Given the description of an element on the screen output the (x, y) to click on. 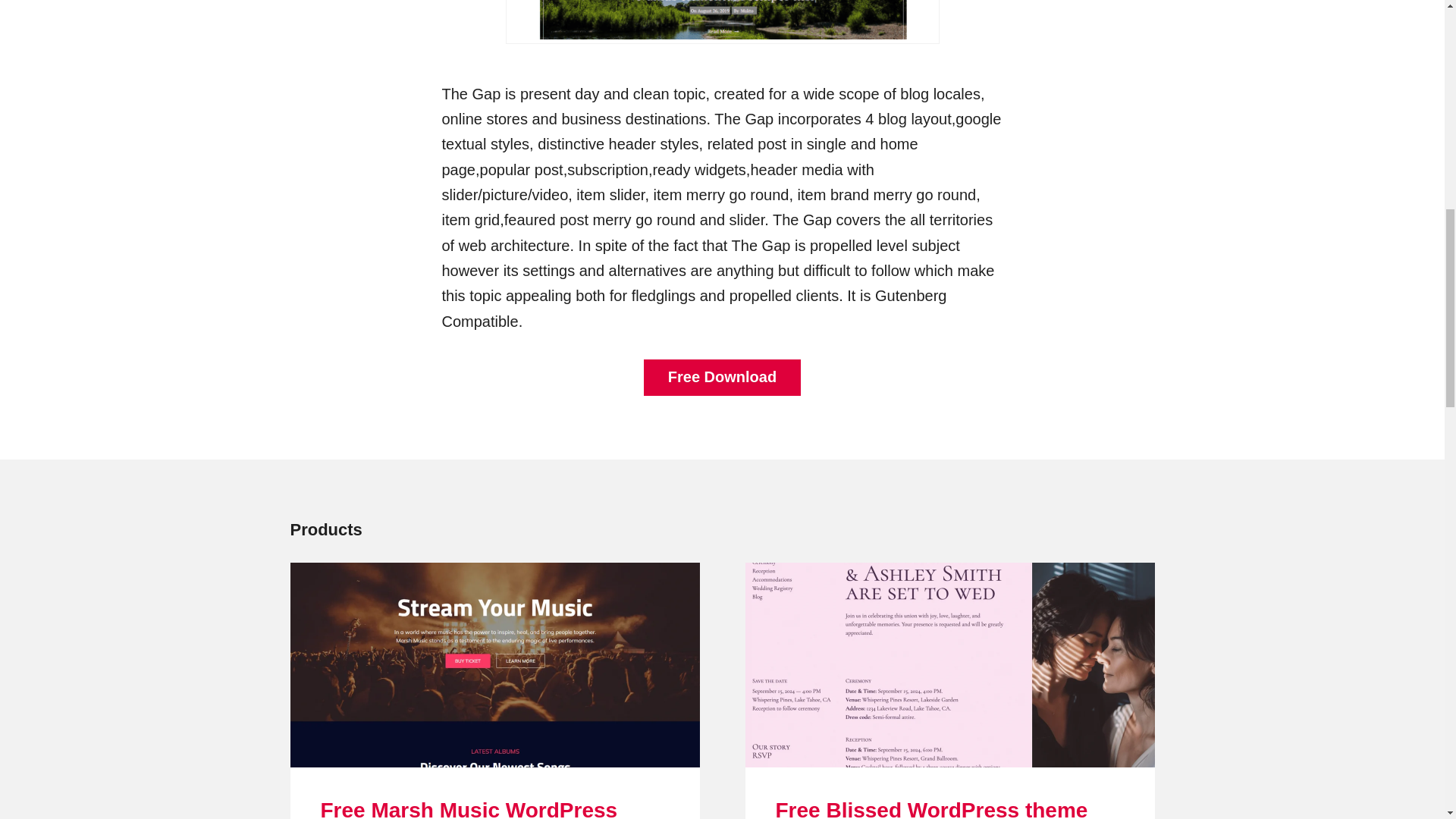
Free Download (721, 377)
Free Marsh Music WordPress theme (468, 808)
Continue reading Free Marsh Music WordPress theme (493, 664)
Free Blissed WordPress theme (930, 808)
Continue reading Free Blissed WordPress theme (949, 664)
